Given the description of an element on the screen output the (x, y) to click on. 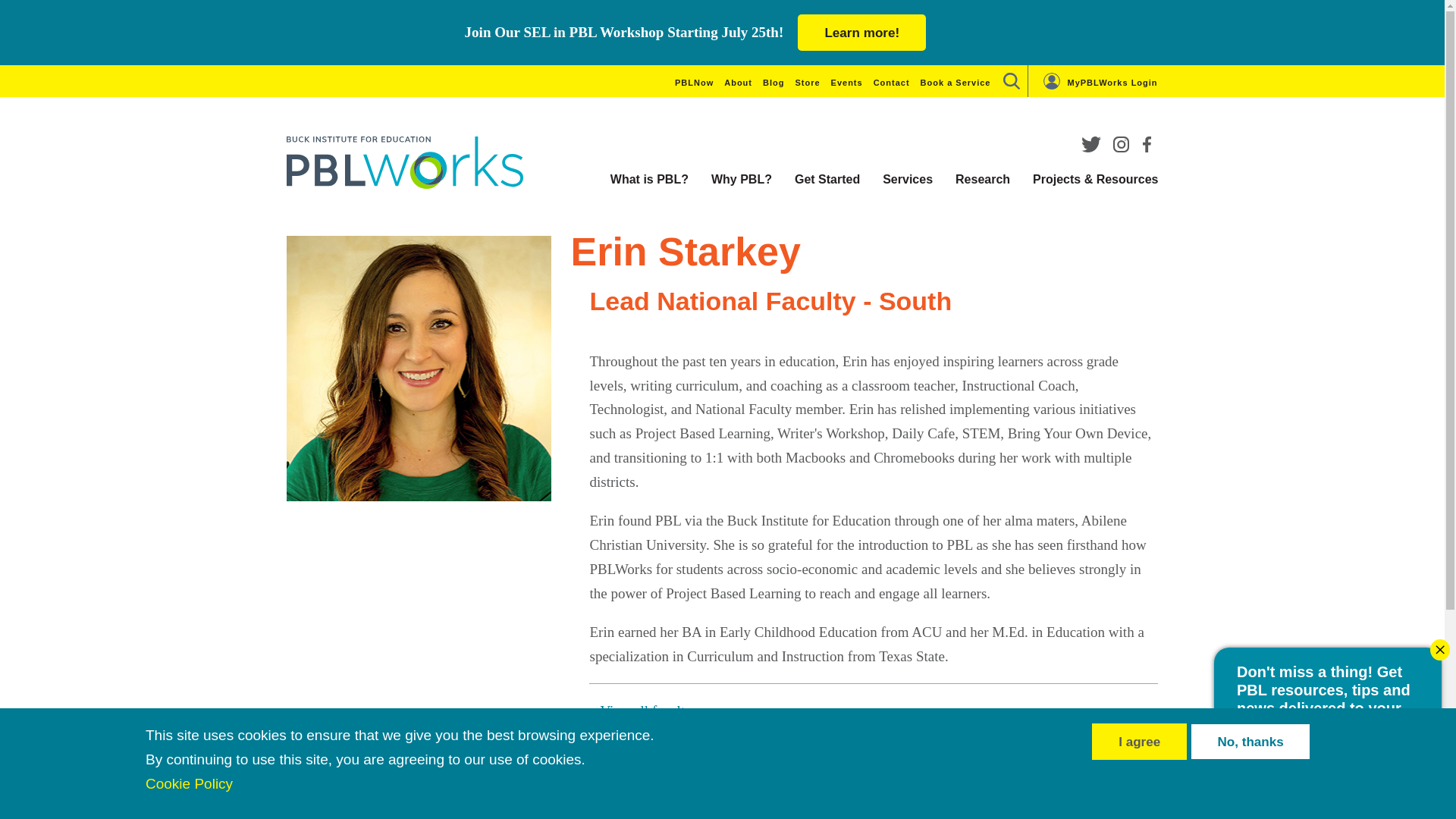
Sign Up (646, 811)
Home (404, 162)
Learn more! (861, 32)
Sign Up (1401, 791)
